Given the description of an element on the screen output the (x, y) to click on. 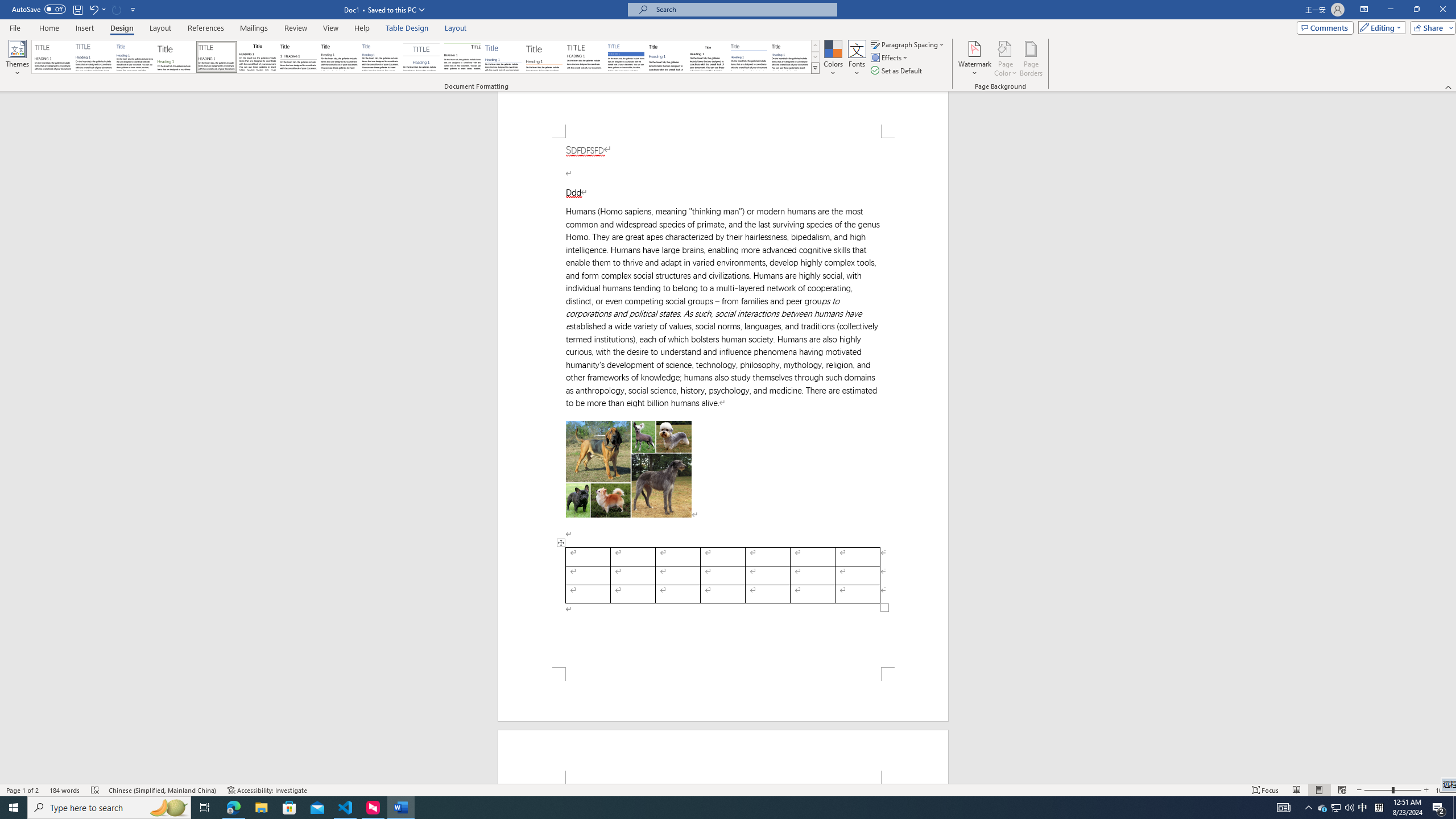
Ribbon Display Options (1364, 9)
Centered (421, 56)
Black & White (Numbered) (298, 56)
Colors (832, 58)
AutoSave (38, 9)
Mailings (253, 28)
Fonts (856, 58)
Table Design (407, 28)
Word 2013 (790, 56)
Black & White (Classic) (257, 56)
Basic (Stylish) (175, 56)
Basic (Elegant) (93, 56)
Minimize (1390, 9)
Home (48, 28)
